Given the description of an element on the screen output the (x, y) to click on. 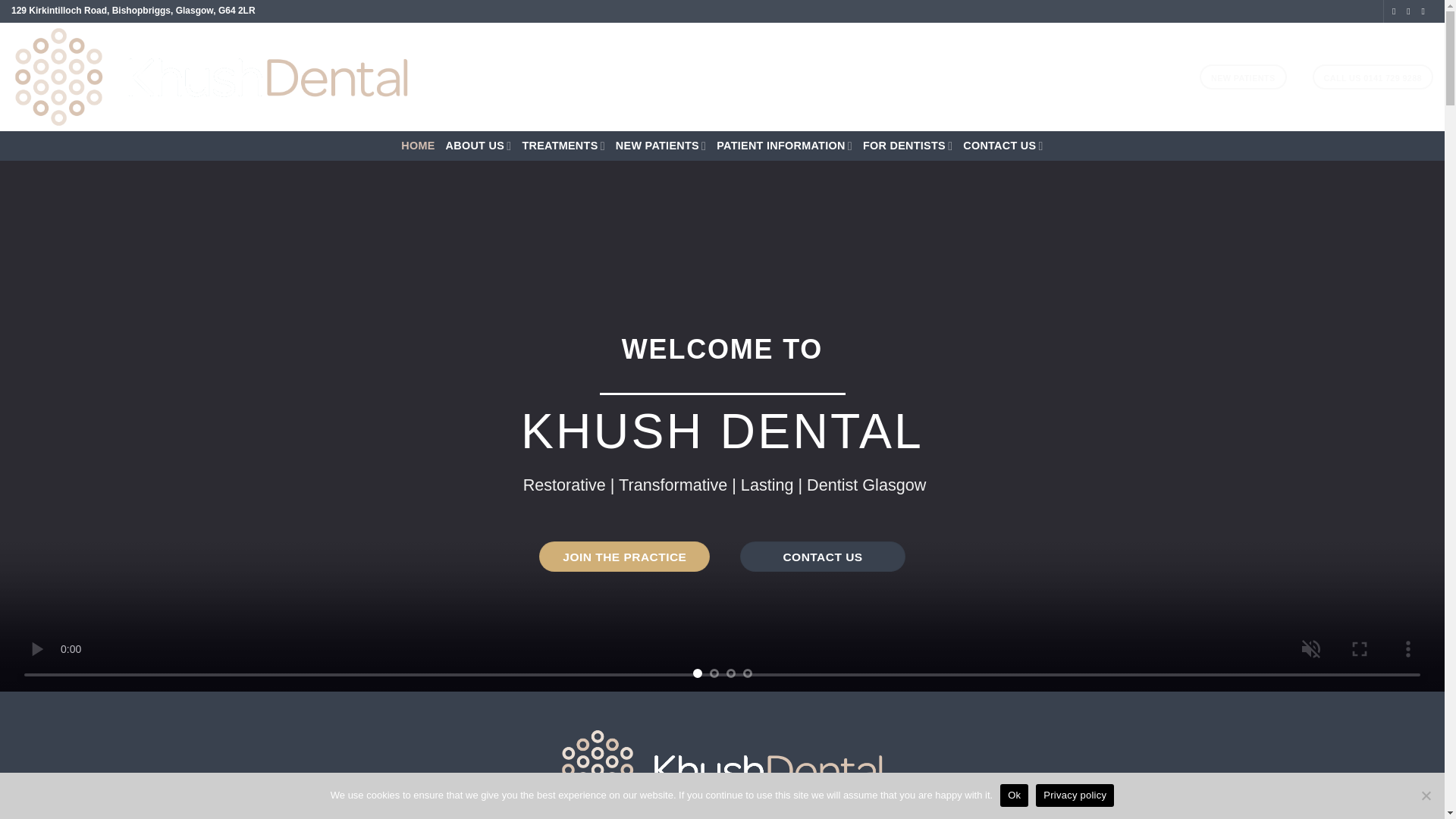
CALL US 0141 729 9288 (1372, 76)
ABOUT US (478, 145)
Khush Dental - Caring for your smile (254, 76)
NEW PATIENTS (1243, 76)
HOME (417, 145)
129 Kirkintilloch Road, Bishopbriggs, Glasgow, G64 2LR (133, 9)
No (1425, 795)
NEW PATIENTS (660, 145)
TREATMENTS (562, 145)
